Given the description of an element on the screen output the (x, y) to click on. 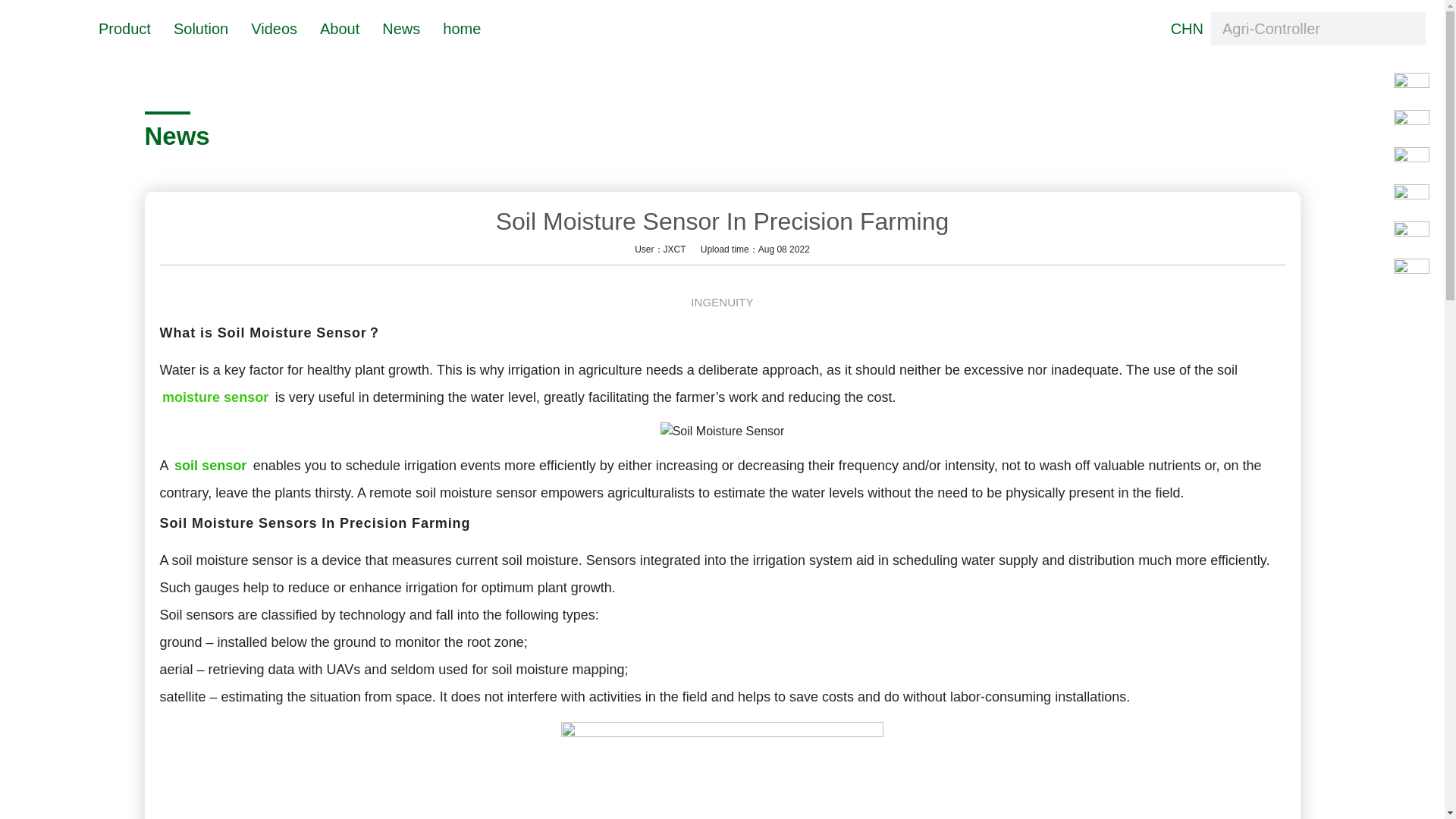
Product (125, 27)
Agri-Controller (1318, 28)
